Given the description of an element on the screen output the (x, y) to click on. 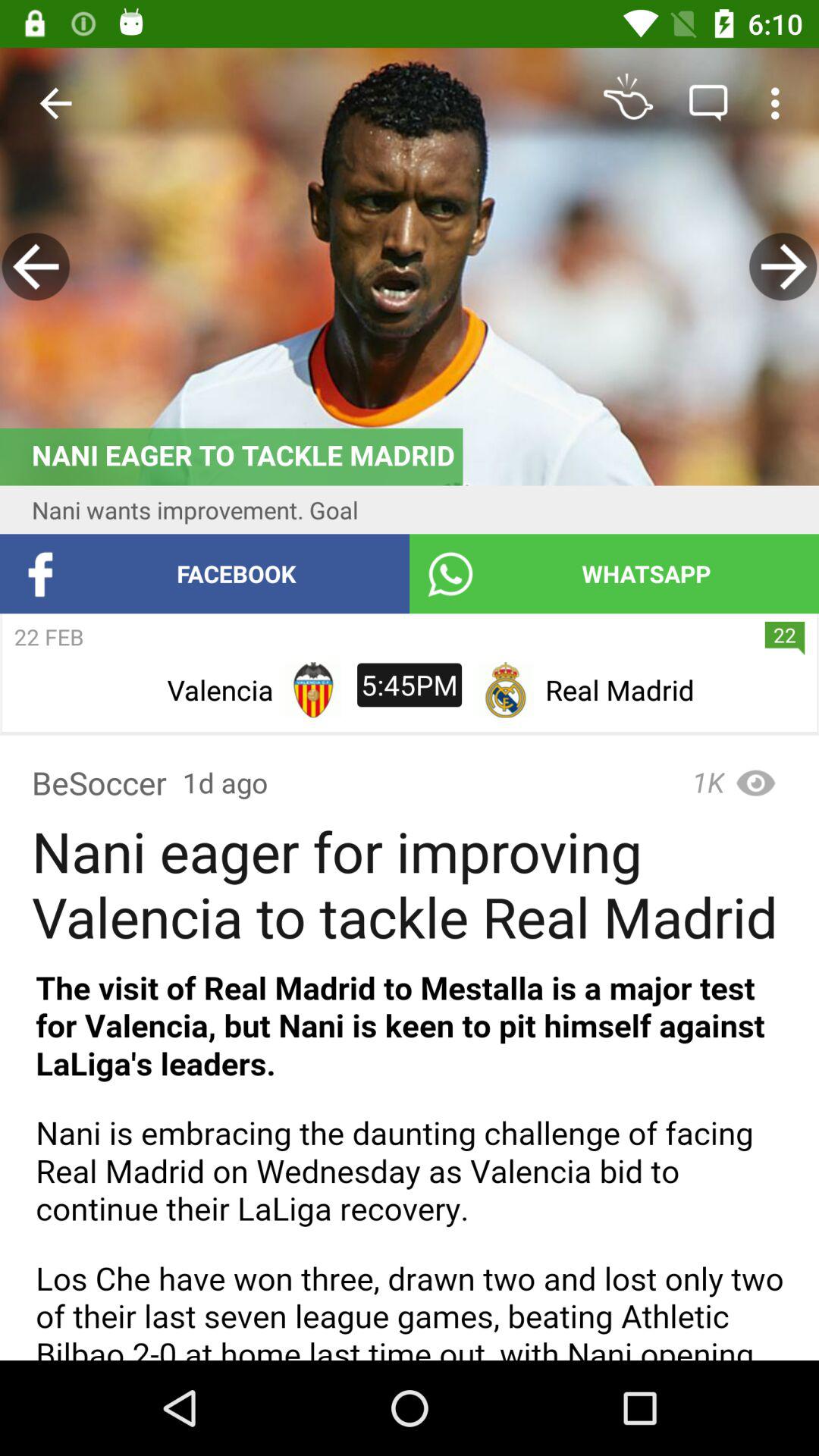
advertisement (409, 1156)
